Given the description of an element on the screen output the (x, y) to click on. 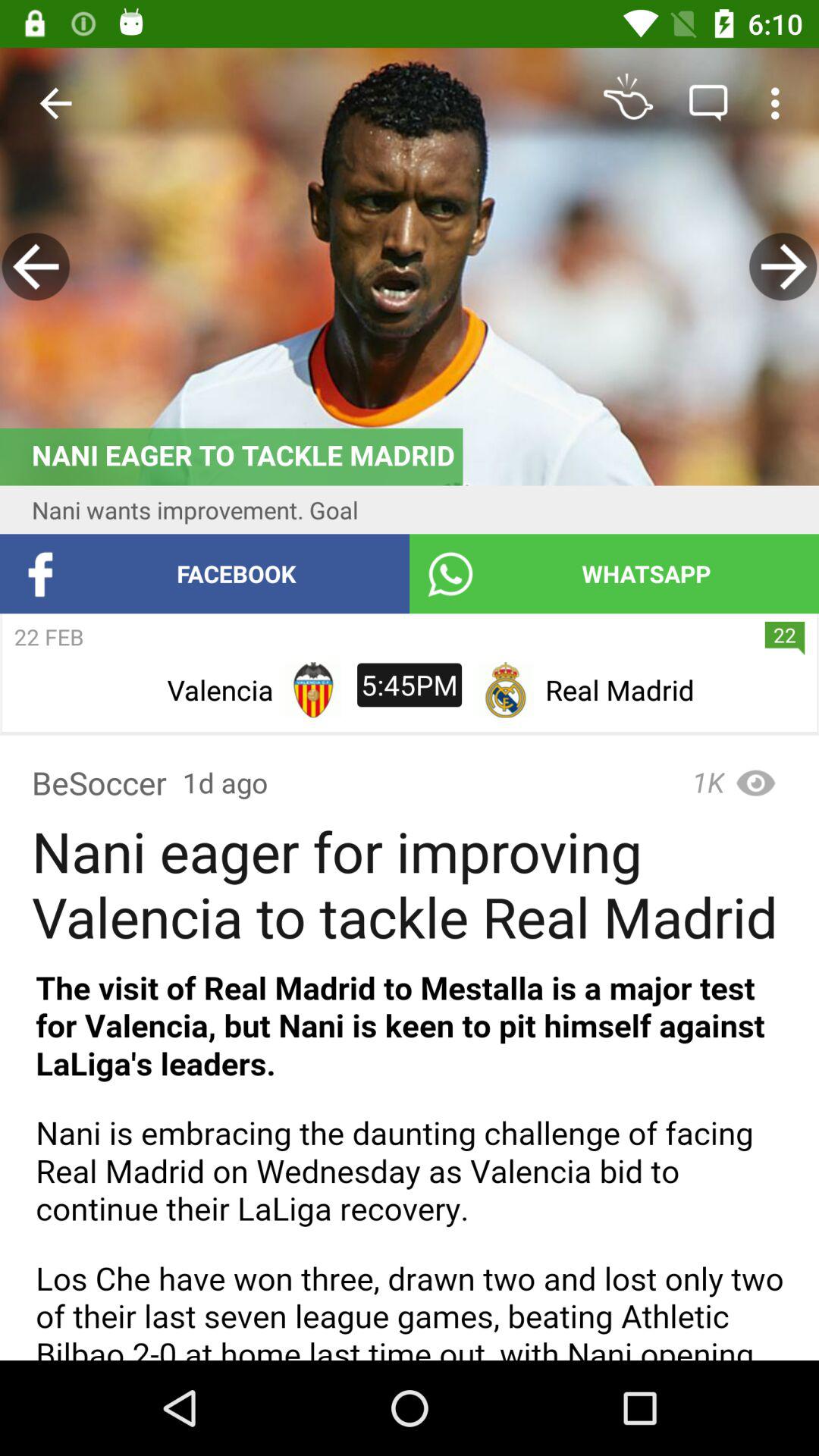
advertisement (409, 1156)
